Given the description of an element on the screen output the (x, y) to click on. 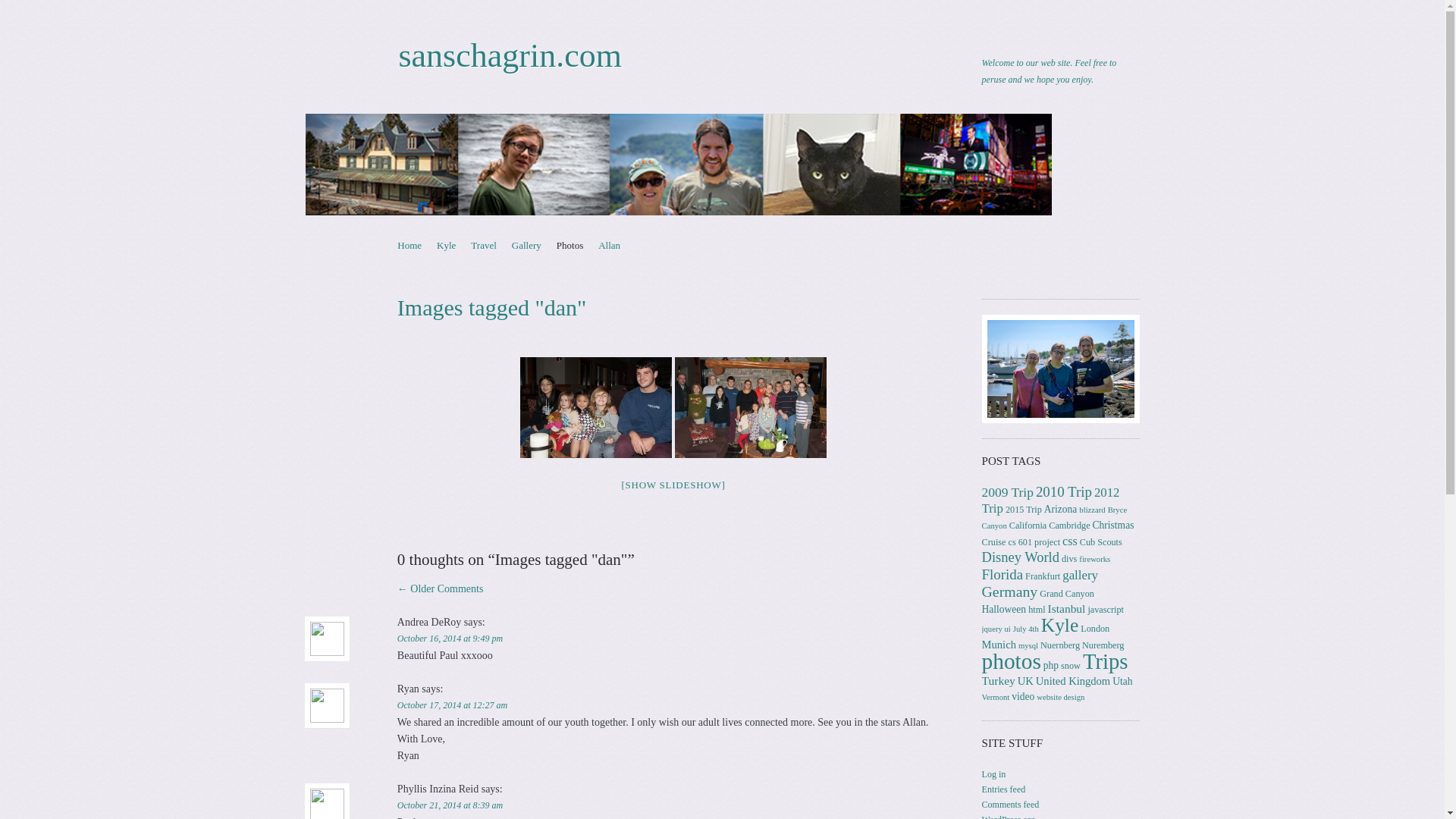
sanschagrin.com (509, 55)
sanschagrin.com (509, 55)
Skip to content (427, 244)
The whole family (751, 407)
Home (409, 244)
The "young" cousins (595, 407)
Skip to content (427, 244)
sanschagrin.com (721, 164)
Kyle (446, 244)
